Given the description of an element on the screen output the (x, y) to click on. 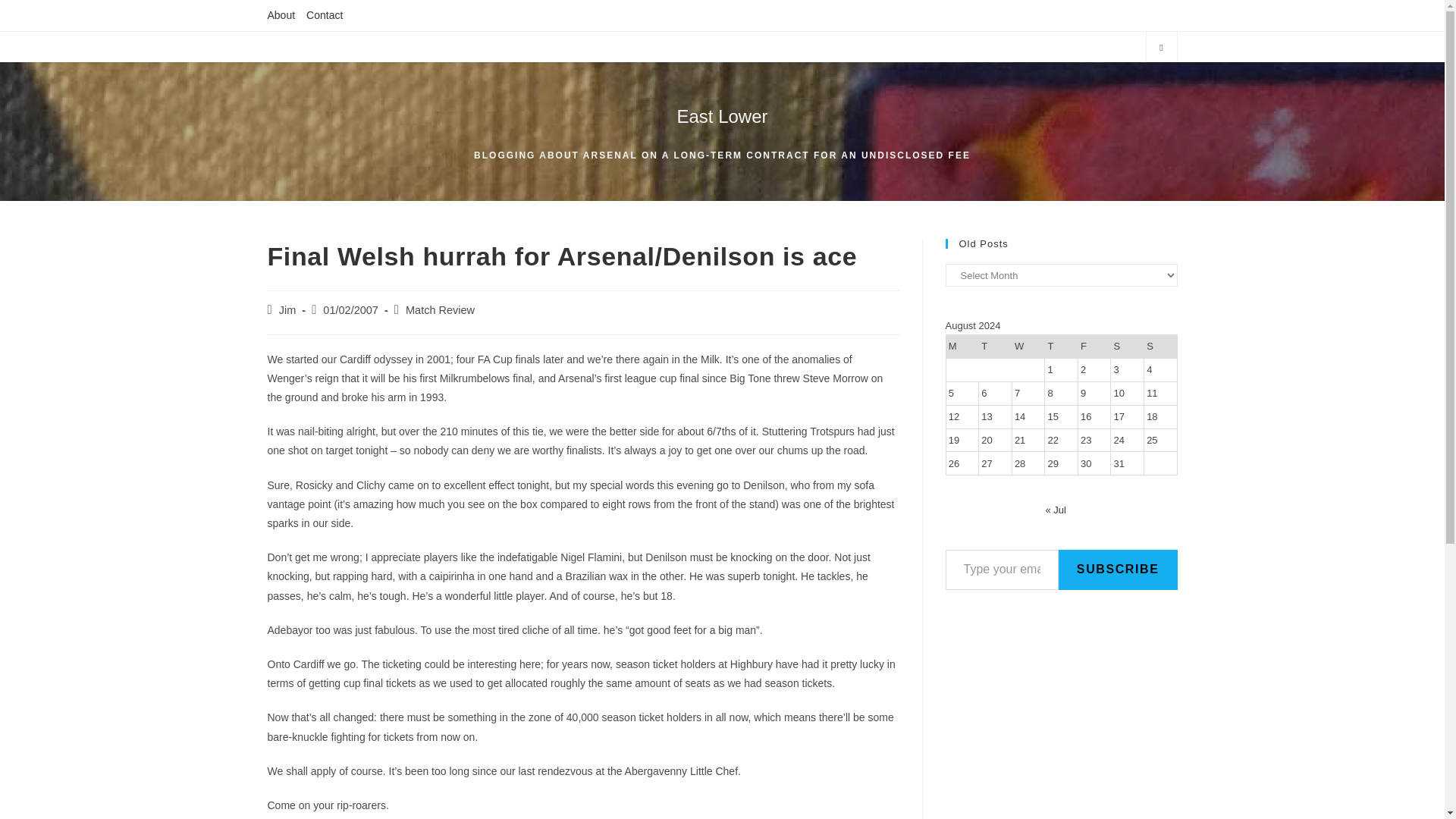
About (280, 15)
Posts by Jim (288, 309)
Wednesday (1028, 346)
Thursday (1061, 346)
Monday (961, 346)
Sunday (1159, 346)
Saturday (1127, 346)
SUBSCRIBE (1117, 569)
Jim (288, 309)
Tuesday (994, 346)
Contact (323, 15)
Friday (1093, 346)
East Lower (722, 116)
Match Review (440, 309)
